Given the description of an element on the screen output the (x, y) to click on. 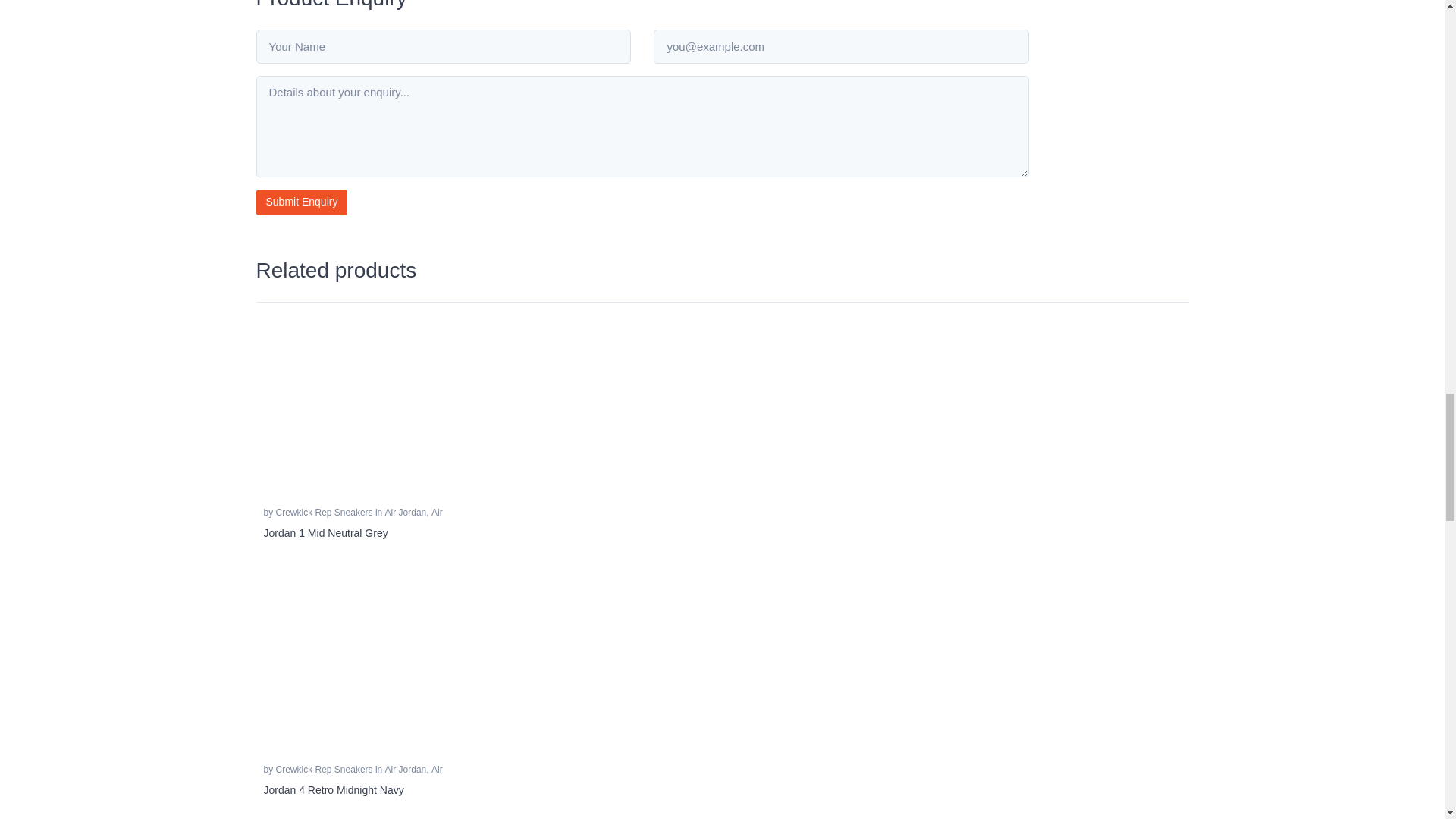
Submit Enquiry (301, 202)
